Given the description of an element on the screen output the (x, y) to click on. 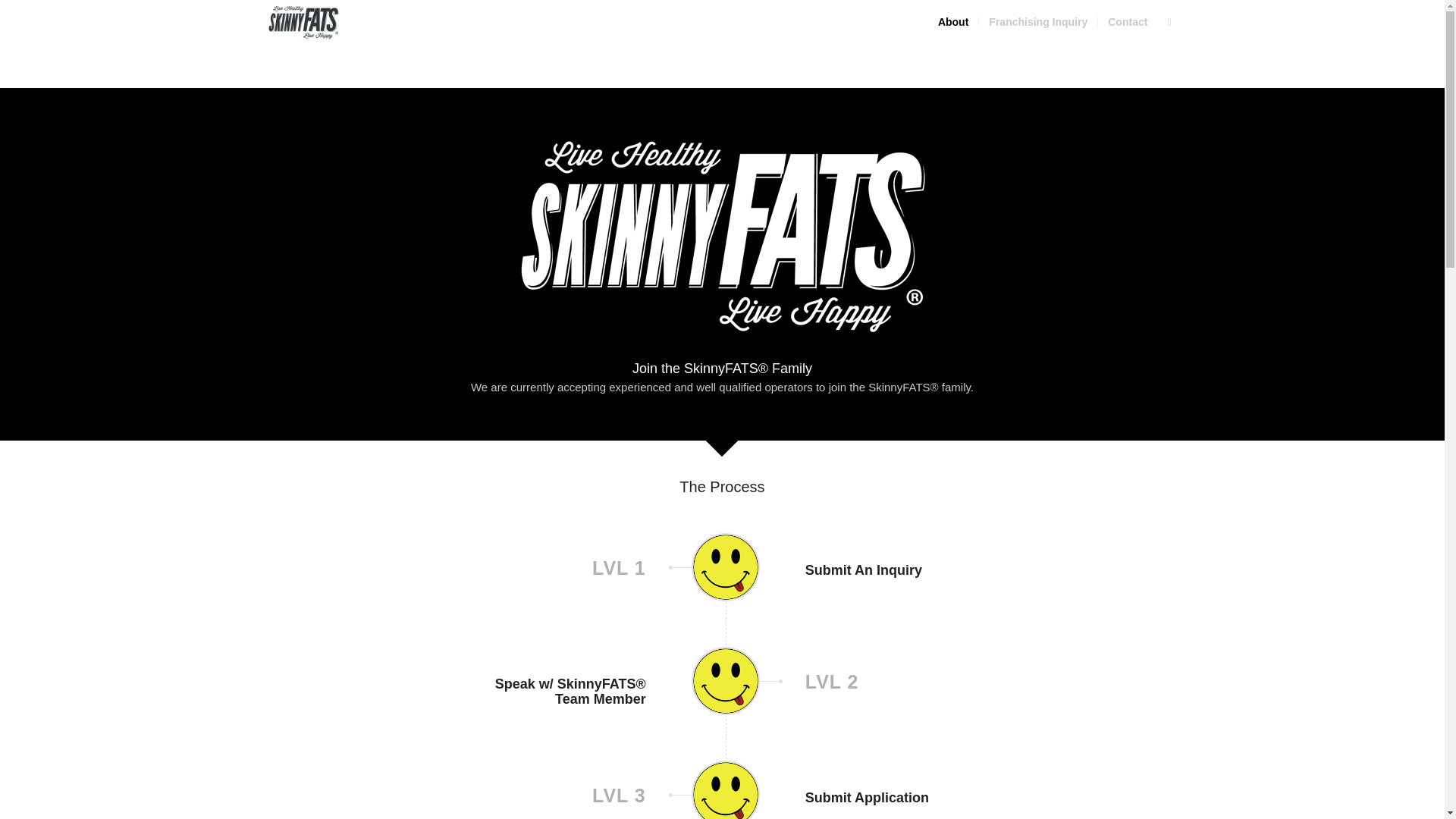
LVL 1 (552, 568)
Contact (1127, 22)
Franchising Inquiry (1037, 22)
About (953, 22)
Submit An Inquiry (863, 570)
